Given the description of an element on the screen output the (x, y) to click on. 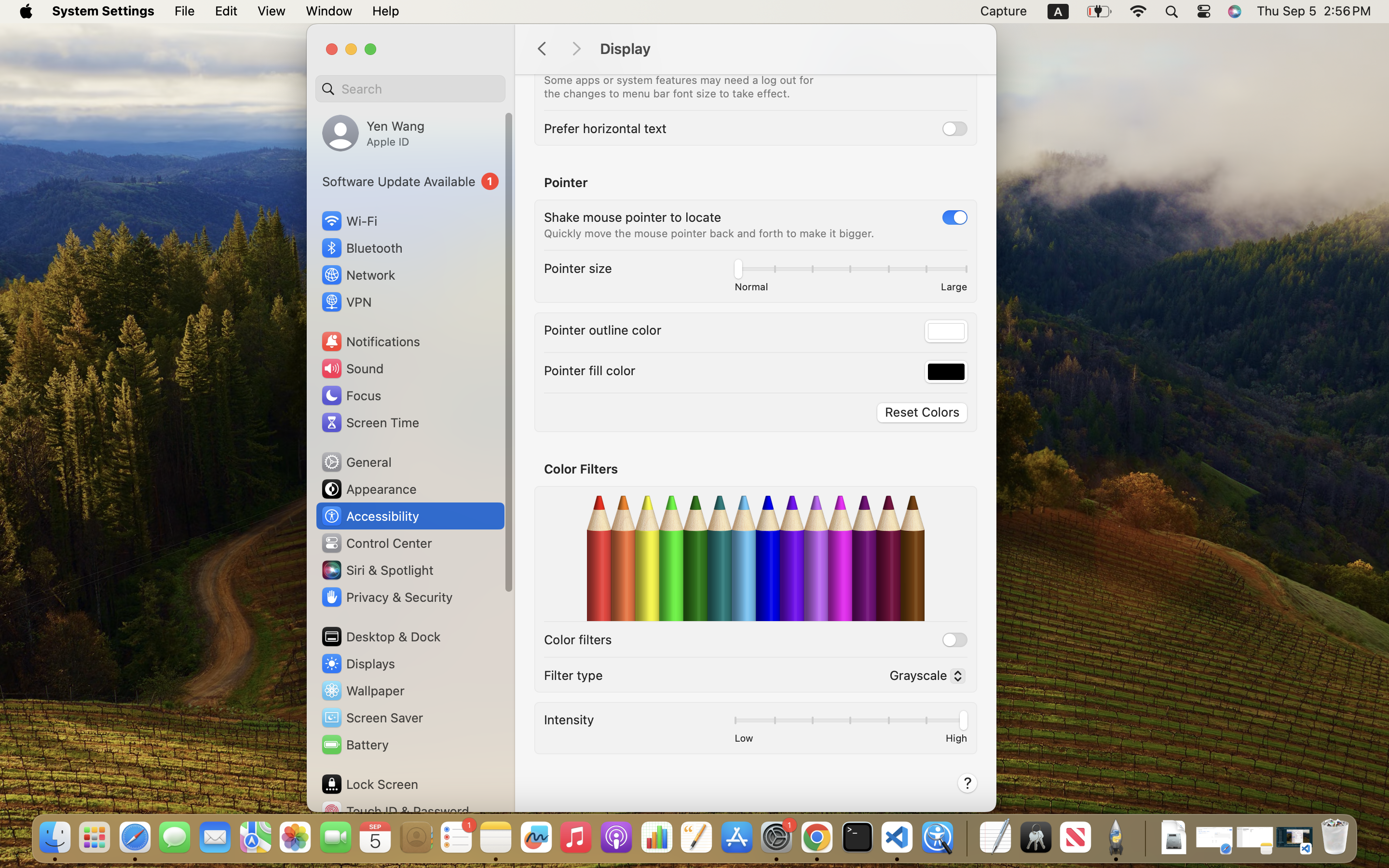
Screen Saver Element type: AXStaticText (371, 717)
Lock Screen Element type: AXStaticText (369, 783)
Appearance Element type: AXStaticText (368, 488)
Prefer horizontal text Element type: AXStaticText (605, 127)
rgb 0 0 0 1 Element type: AXColorWell (946, 371)
